Given the description of an element on the screen output the (x, y) to click on. 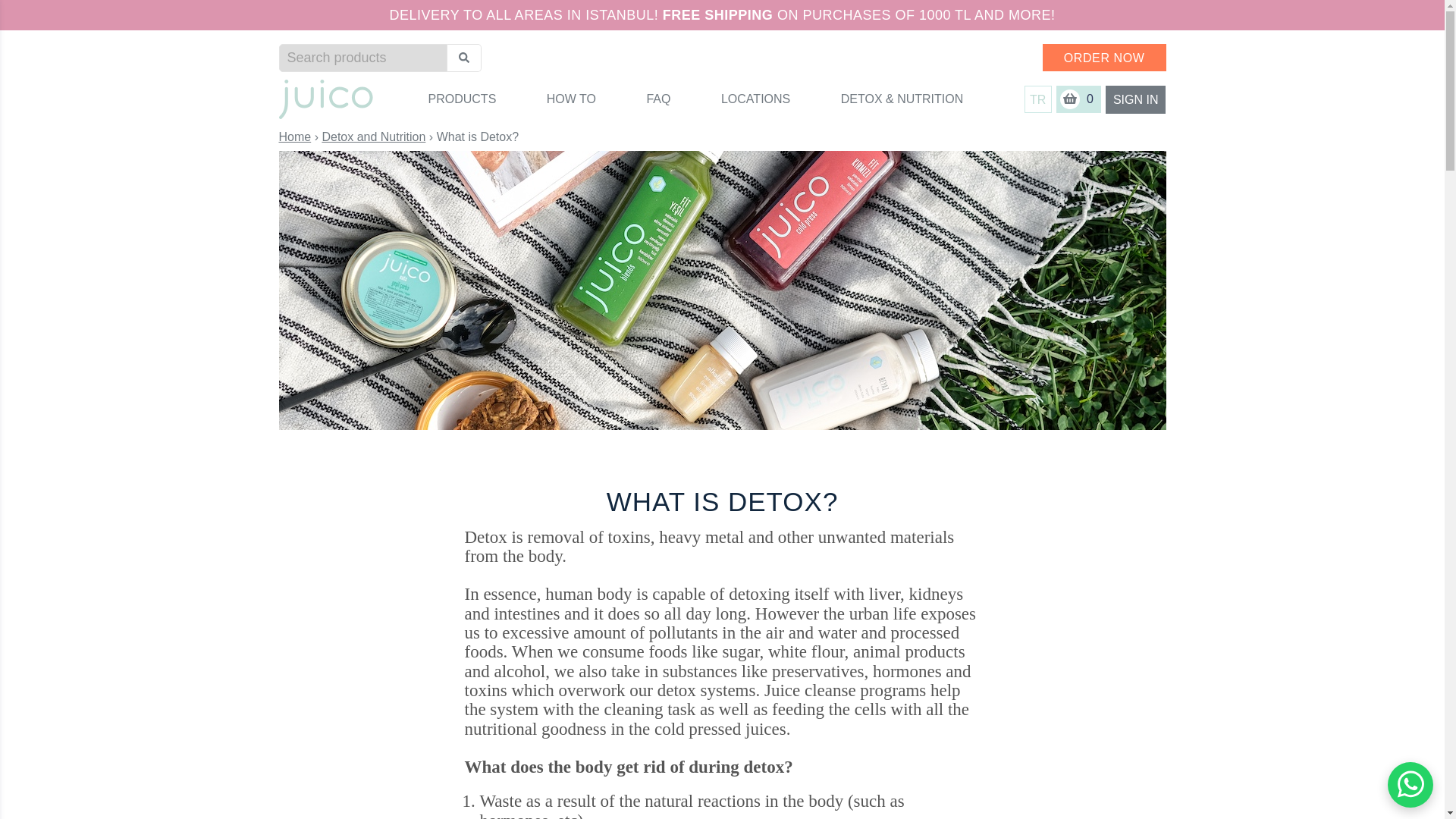
HOW TO (571, 98)
ORDER NOW (1104, 57)
TR (1038, 99)
LOCATIONS (755, 98)
PRODUCTS (462, 98)
